Given the description of an element on the screen output the (x, y) to click on. 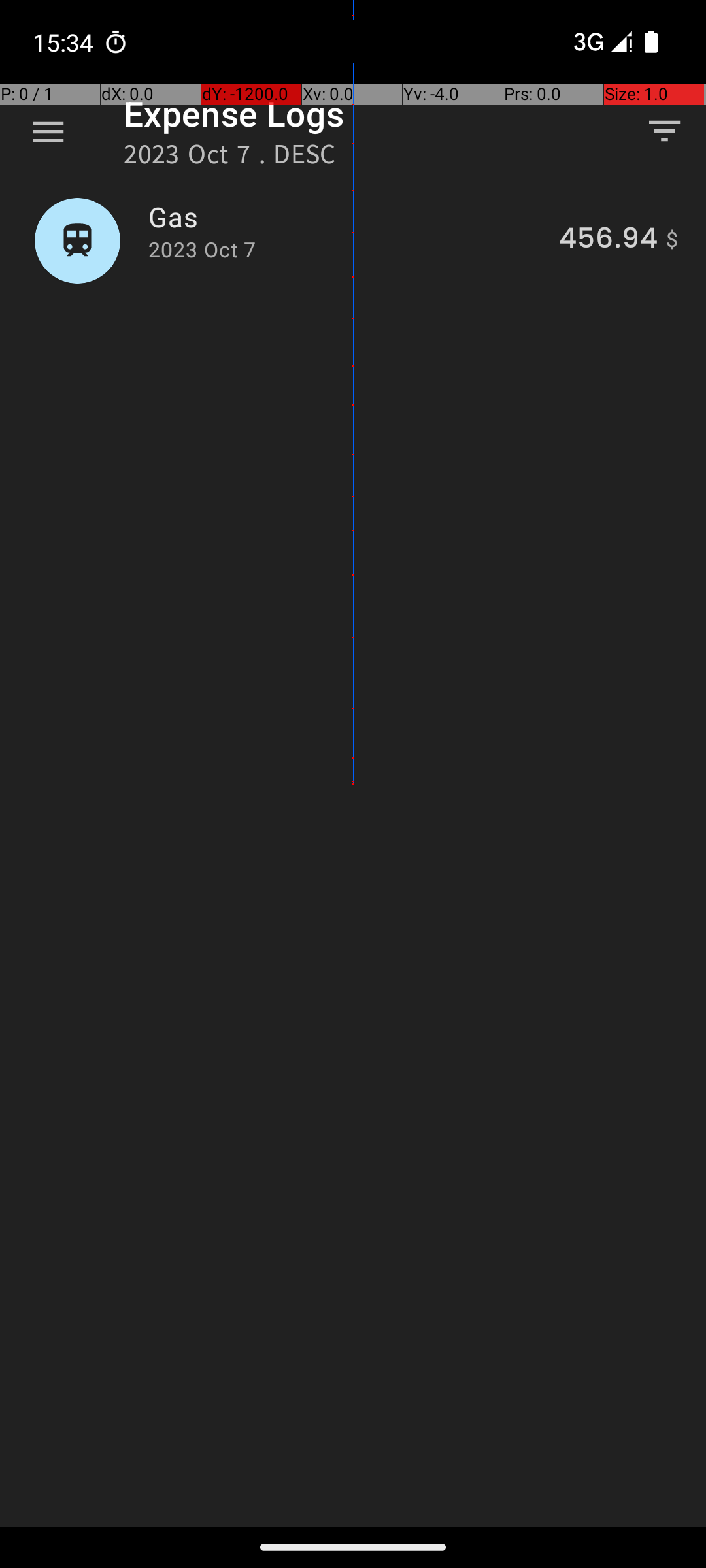
2023 Oct 7 . DESC Element type: android.widget.TextView (229, 157)
456.94 Element type: android.widget.TextView (608, 240)
